Given the description of an element on the screen output the (x, y) to click on. 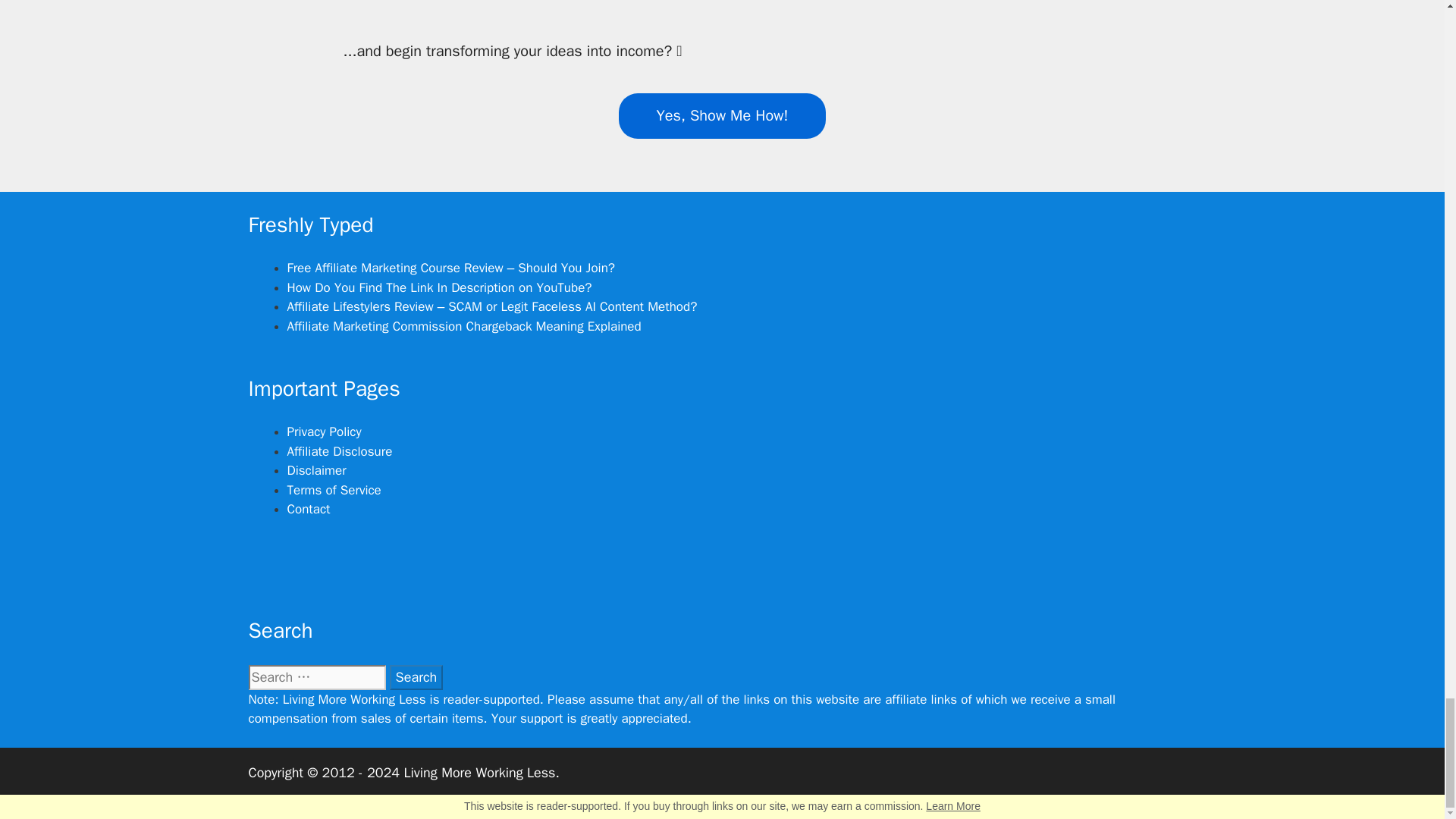
Search (417, 677)
Search for: (316, 677)
Search (417, 677)
